Given the description of an element on the screen output the (x, y) to click on. 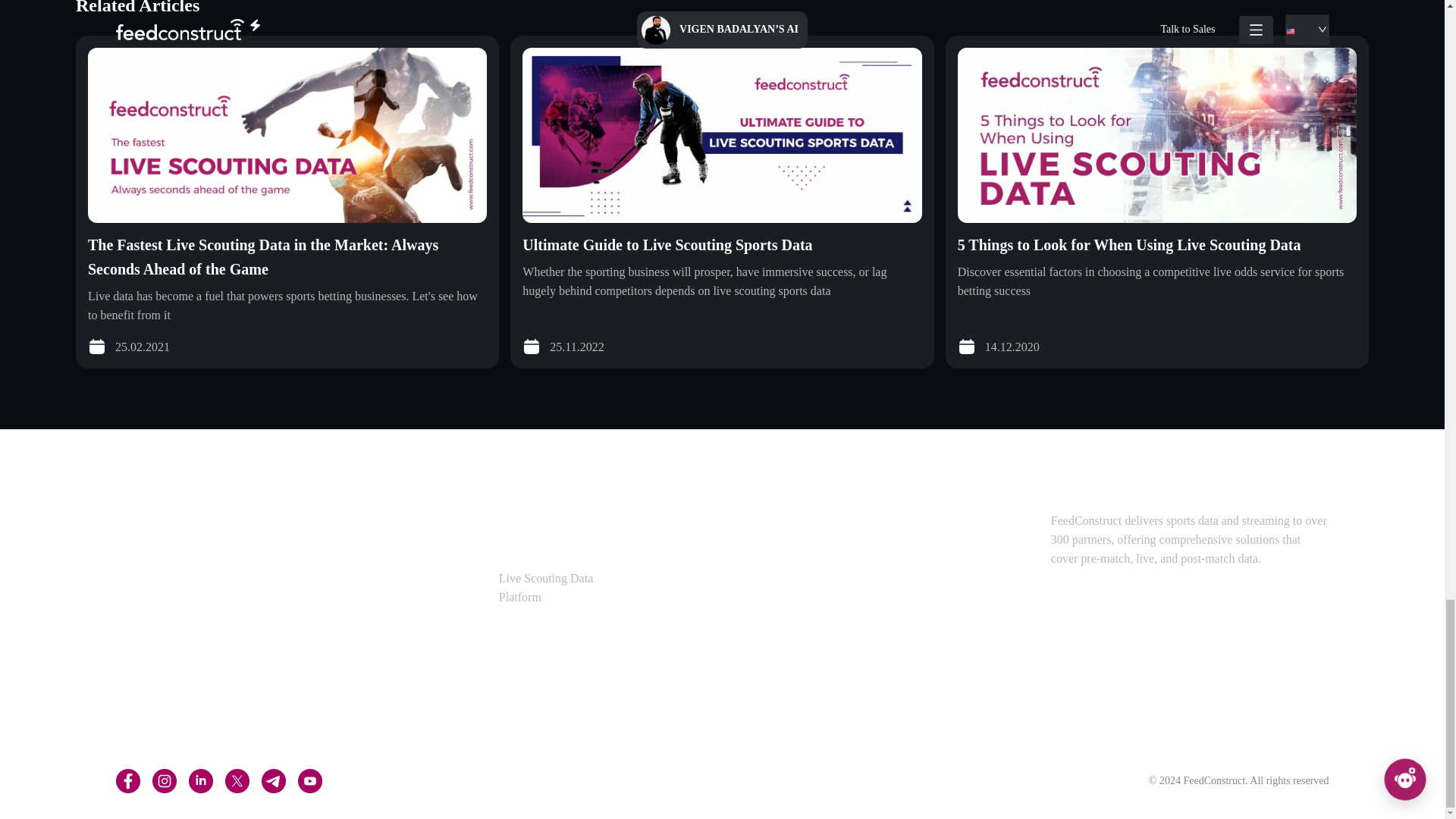
Live Video Streaming (173, 611)
OddsPro (337, 550)
Odds Feed (149, 550)
Friendship Platform (360, 520)
Privacy Policy (753, 641)
Cookie Policy (752, 702)
News (734, 611)
Live Scouting Data (168, 520)
5 Things to Look for When Using Live Scouting Data (1129, 244)
5 Things to Look for When Using Live Scouting Data (1129, 244)
Events (736, 550)
About Us (742, 520)
Stats Widgets (155, 641)
